Given the description of an element on the screen output the (x, y) to click on. 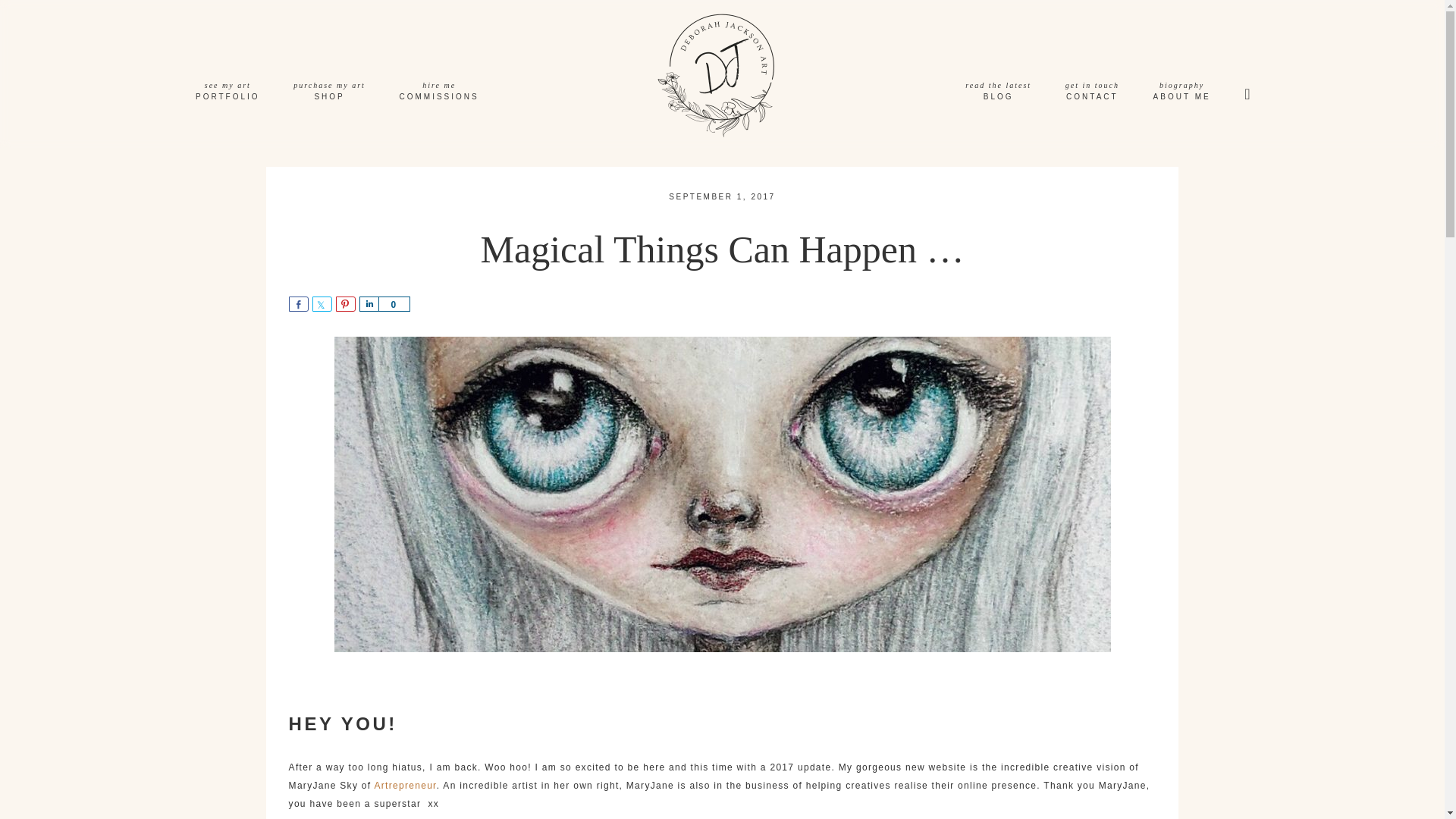
Deborah Jackson Art (722, 73)
0 (394, 303)
Share (1181, 93)
Share (298, 303)
Share (322, 303)
Pin (998, 93)
Artrepreneur (1091, 93)
